Given the description of an element on the screen output the (x, y) to click on. 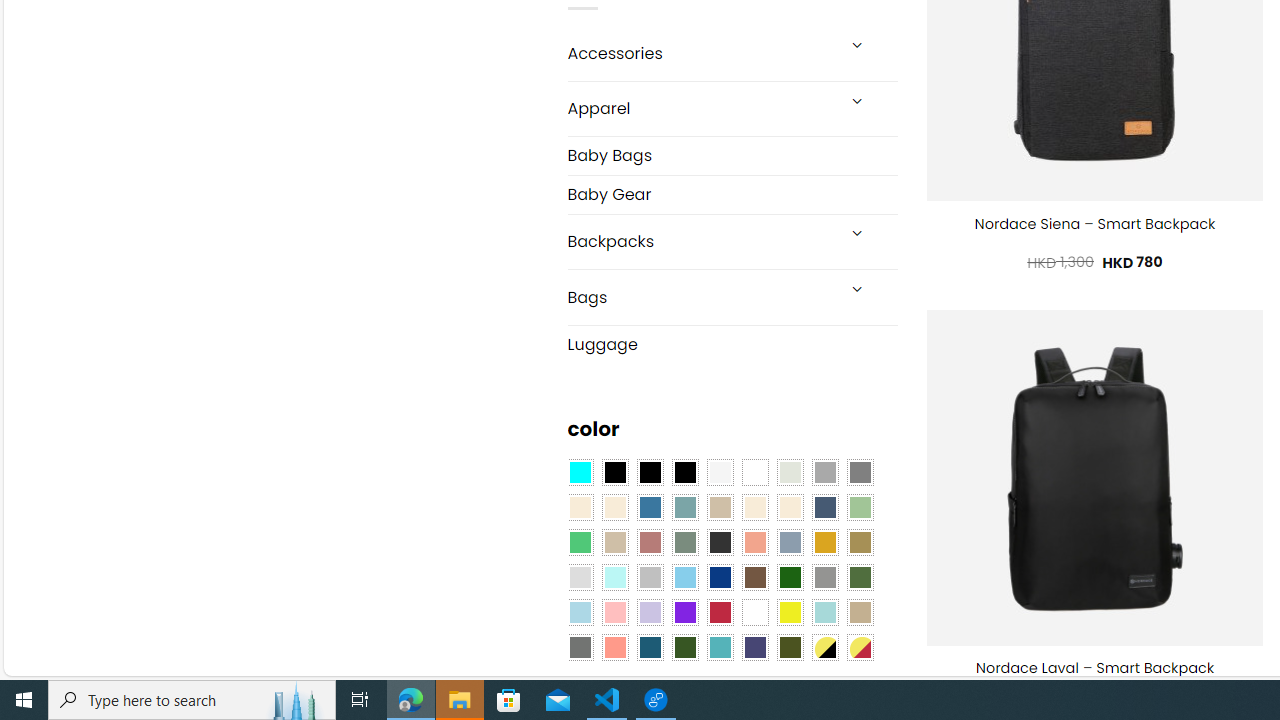
Purple Navy (755, 647)
Baby Gear (732, 194)
Hale Navy (824, 508)
Coral (755, 542)
Baby Bags (732, 155)
Light Gray (579, 578)
Forest (684, 647)
Baby Gear (732, 193)
Beige (579, 508)
White (755, 612)
Purple (684, 612)
